Given the description of an element on the screen output the (x, y) to click on. 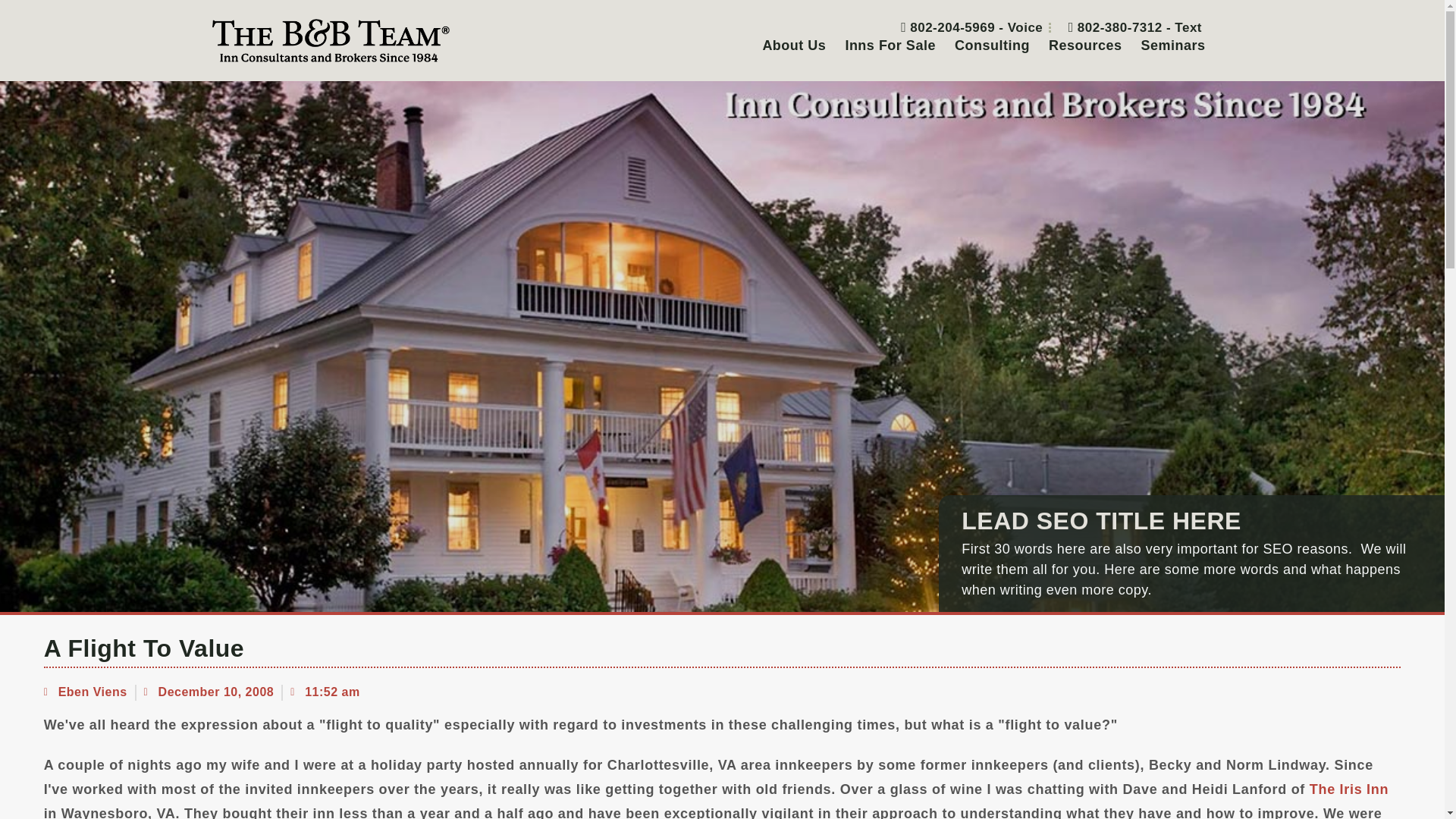
802-380-7312 - Text (1129, 27)
About Us (793, 45)
Seminars (1172, 45)
Inns For Sale (890, 45)
802-204-5969 - Voice (966, 27)
Resources (1085, 45)
Consulting (991, 45)
